Given the description of an element on the screen output the (x, y) to click on. 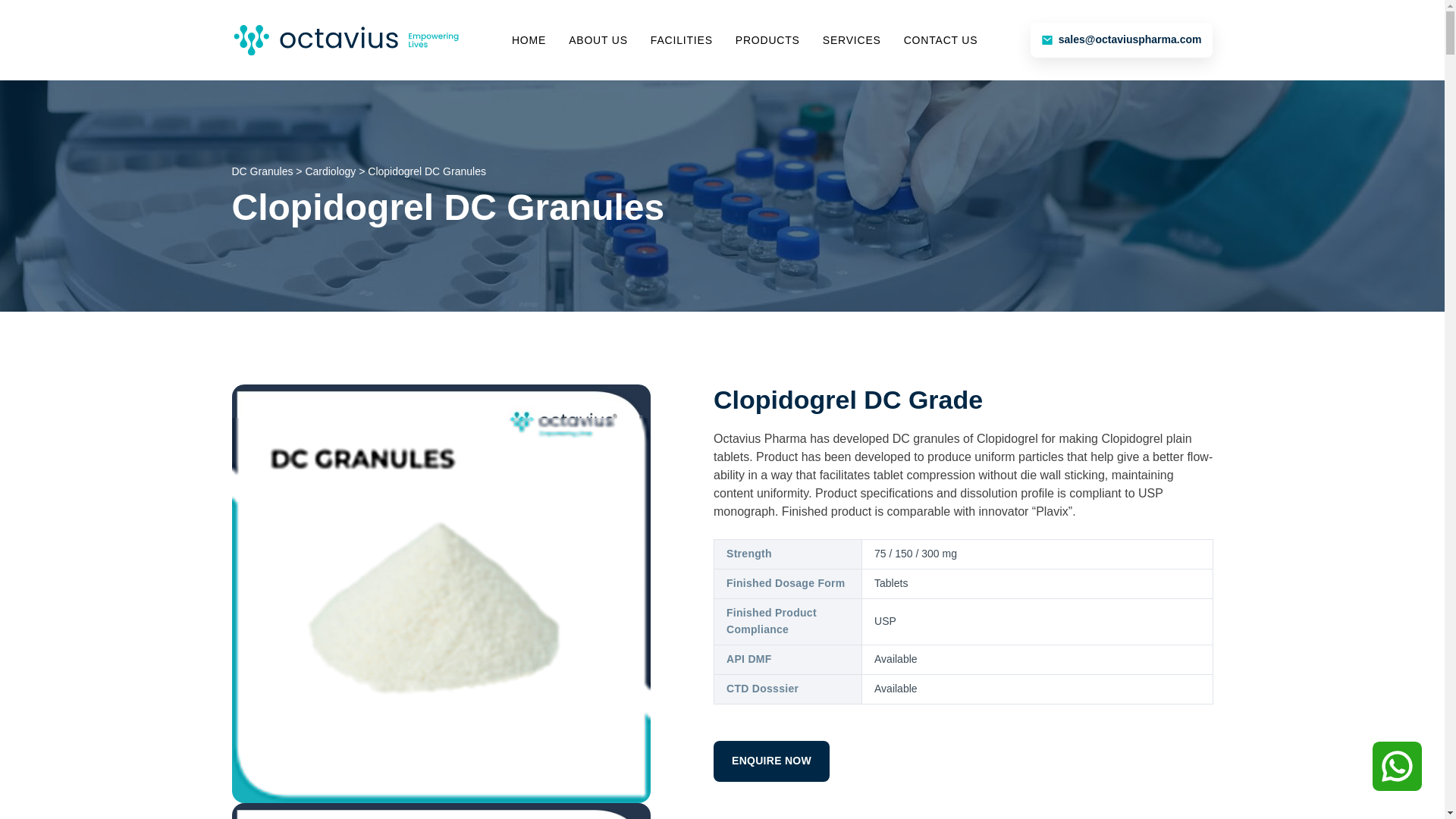
HOME (529, 40)
Cardiology (329, 170)
CONTACT US (941, 40)
SERVICES (851, 40)
PRODUCTS (767, 40)
ENQUIRE NOW (771, 761)
FACILITIES (681, 40)
ABOUT US (598, 40)
DC Granules (262, 170)
